Given the description of an element on the screen output the (x, y) to click on. 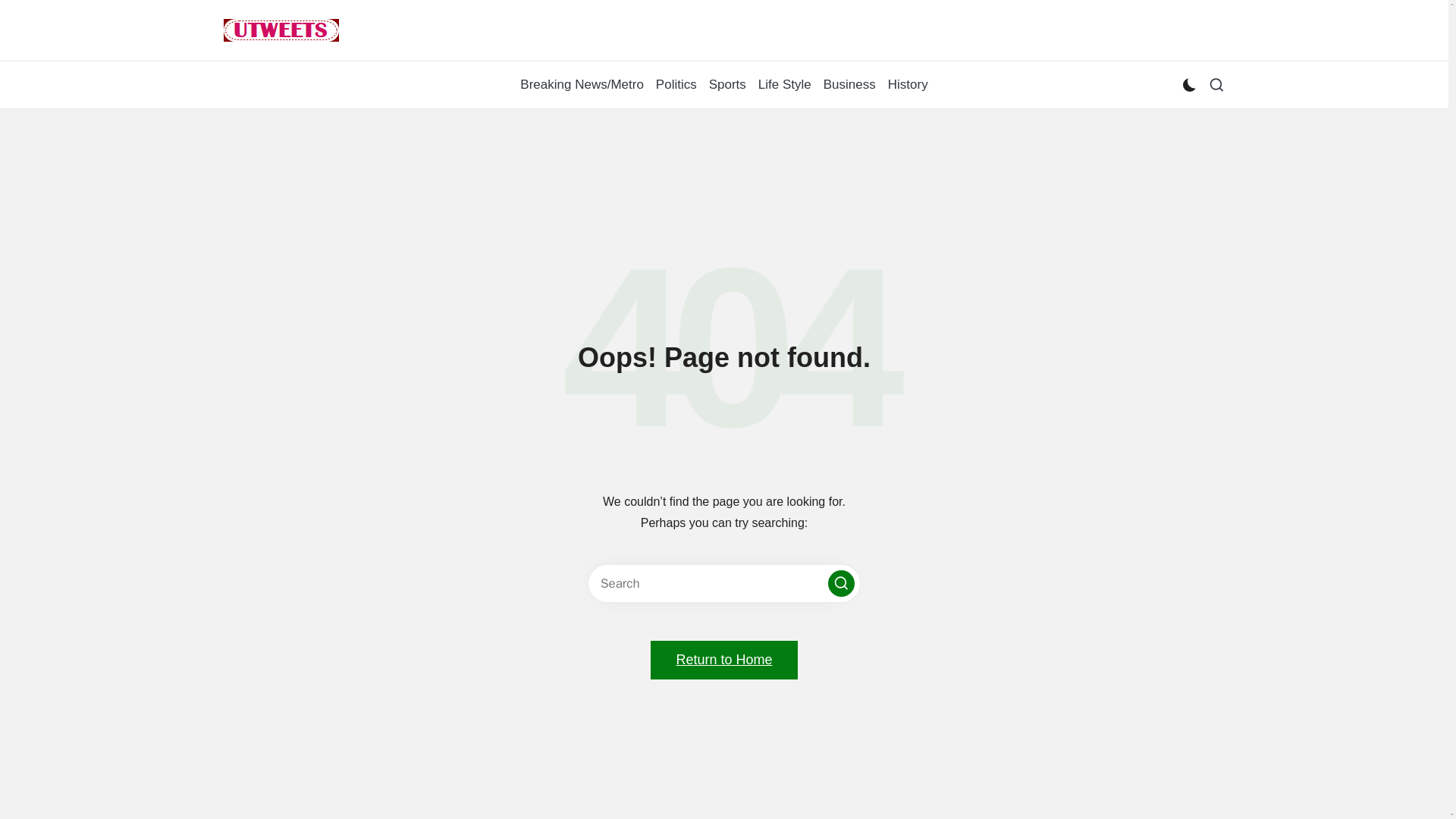
Politics (676, 84)
Life Style (784, 84)
History (908, 84)
Sports (727, 84)
Return to Home (723, 659)
Business (850, 84)
